Given the description of an element on the screen output the (x, y) to click on. 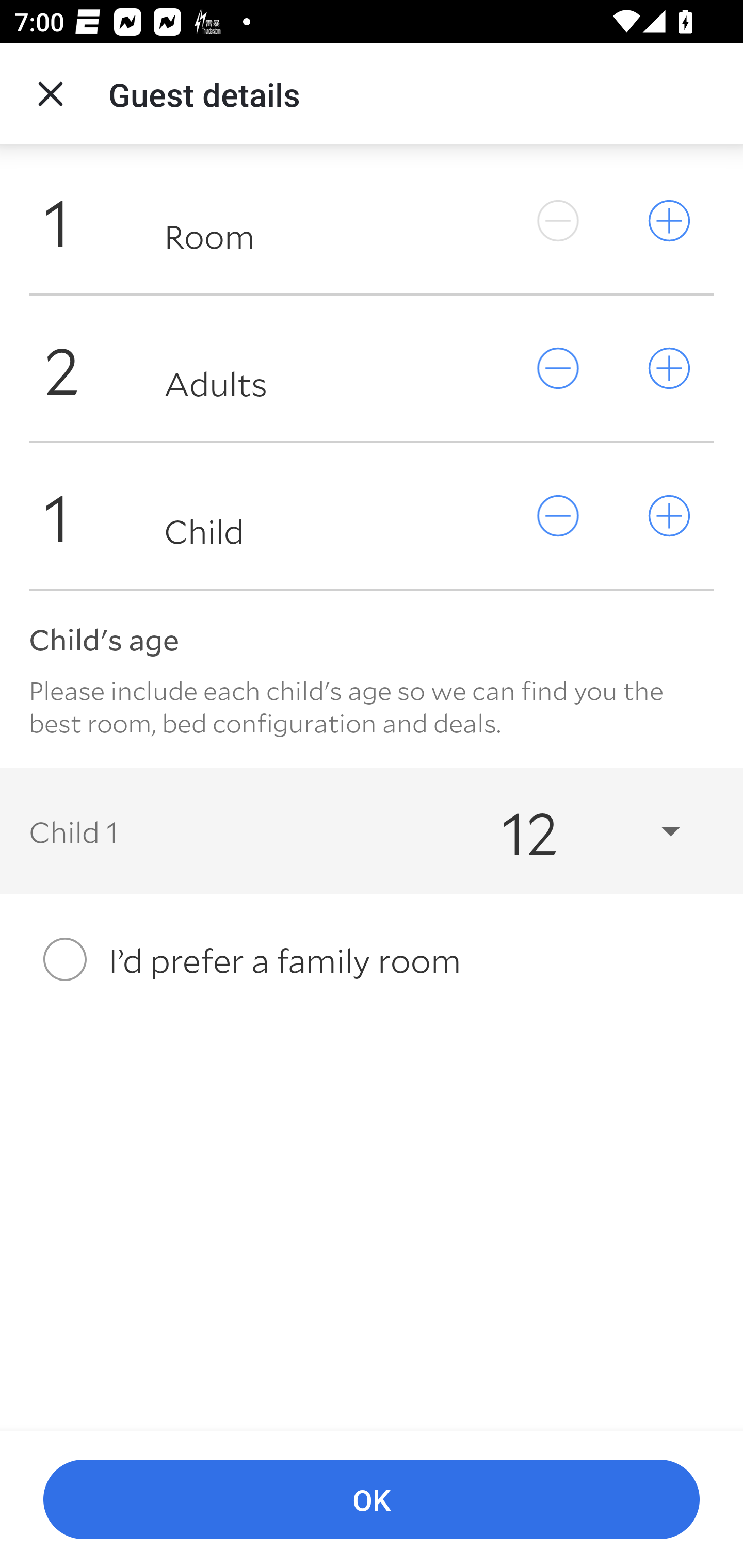
12 (573, 830)
I’d prefer a family room (371, 959)
OK (371, 1499)
